Given the description of an element on the screen output the (x, y) to click on. 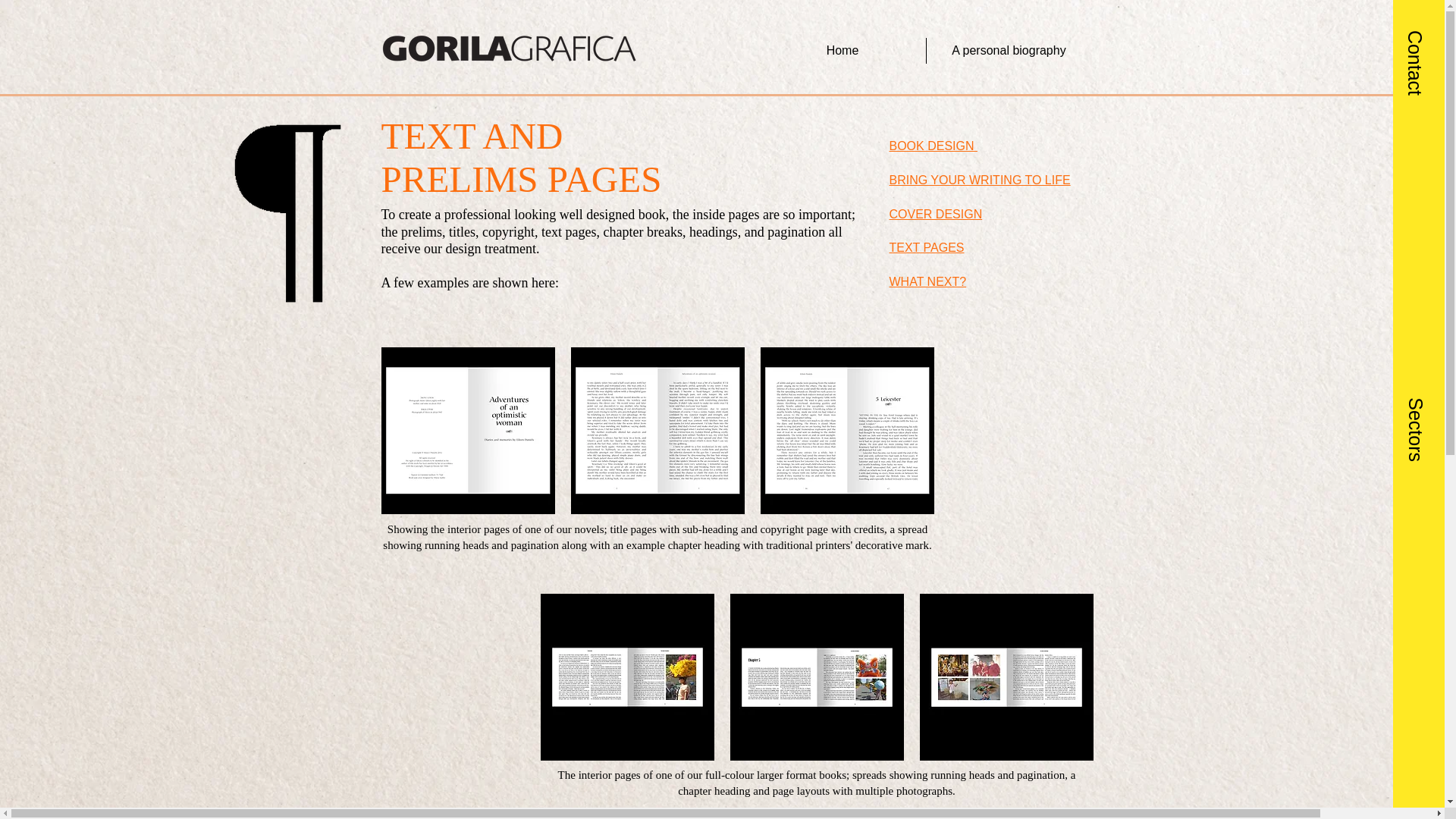
WHAT NEXT? (927, 281)
TEXT PAGES (925, 246)
BOOK DESIGN  (932, 145)
Home (843, 50)
COVER DESIGN (934, 214)
A personal biography (1009, 50)
Contact (1426, 46)
BRING YOUR WRITING TO LIFE (979, 179)
Sectors (1426, 362)
